Given the description of an element on the screen output the (x, y) to click on. 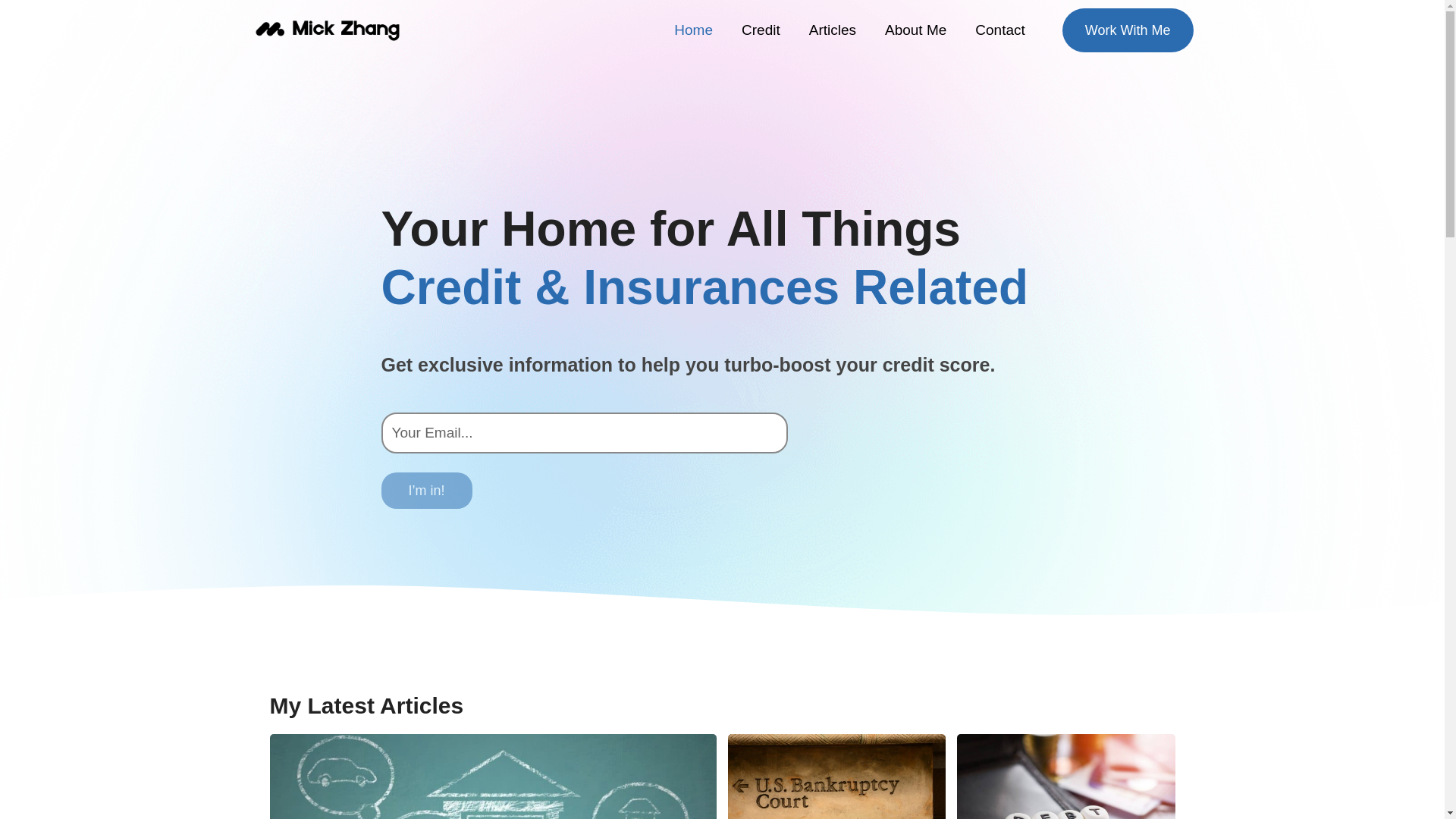
Credit (760, 29)
Articles (832, 29)
Contact (999, 29)
Home (692, 29)
About Me (915, 29)
Work With Me (1127, 30)
